Given the description of an element on the screen output the (x, y) to click on. 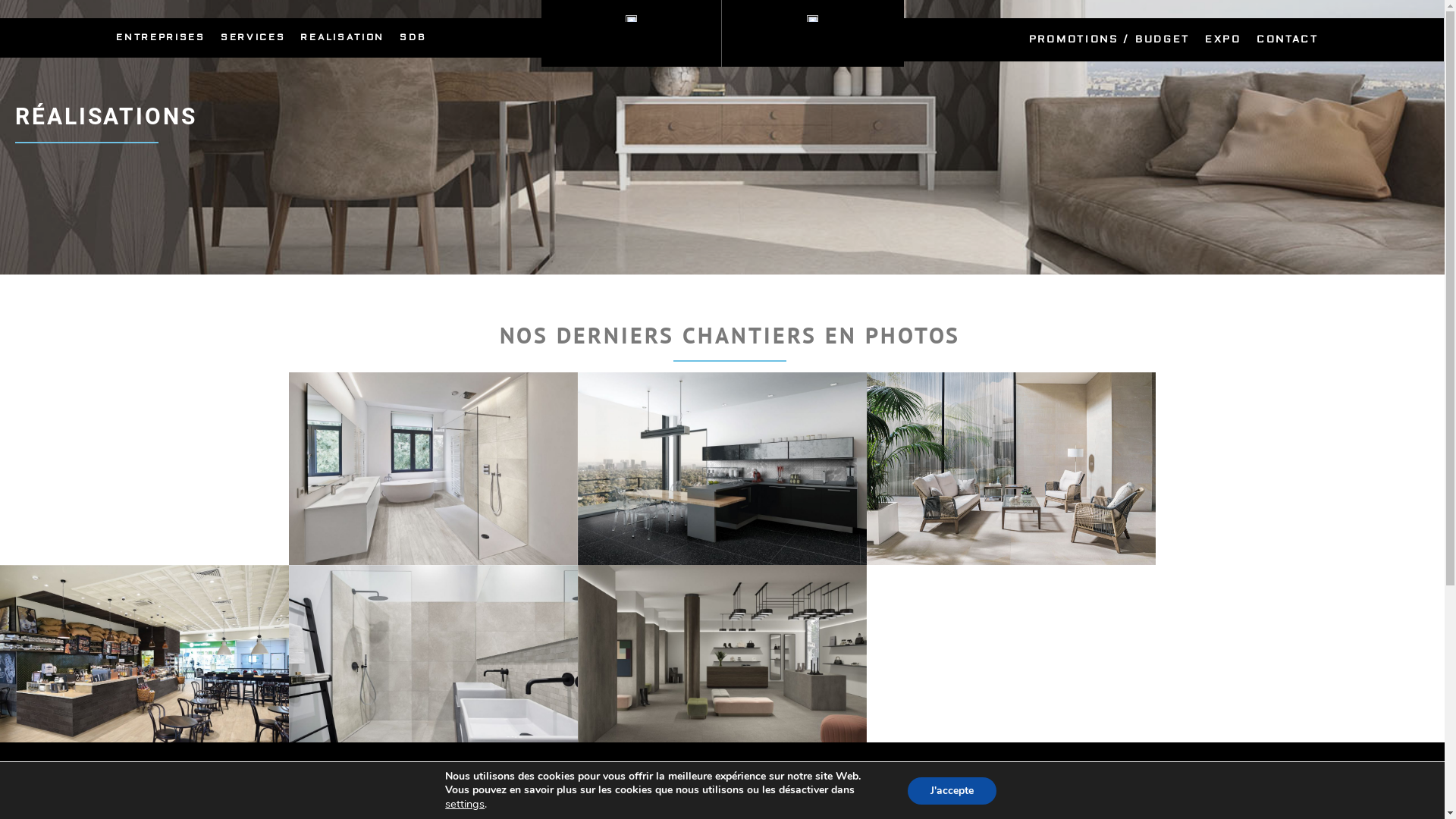
CONTACT Element type: text (1287, 39)
EXPO Element type: text (1222, 39)
PROMOTIONS / BUDGET Element type: text (1109, 39)
REALISATION Element type: text (342, 37)
J'accepte Element type: text (951, 789)
SERVICES Element type: text (253, 37)
SDB Element type: text (412, 37)
ENTREPRISES Element type: text (160, 37)
